Given the description of an element on the screen output the (x, y) to click on. 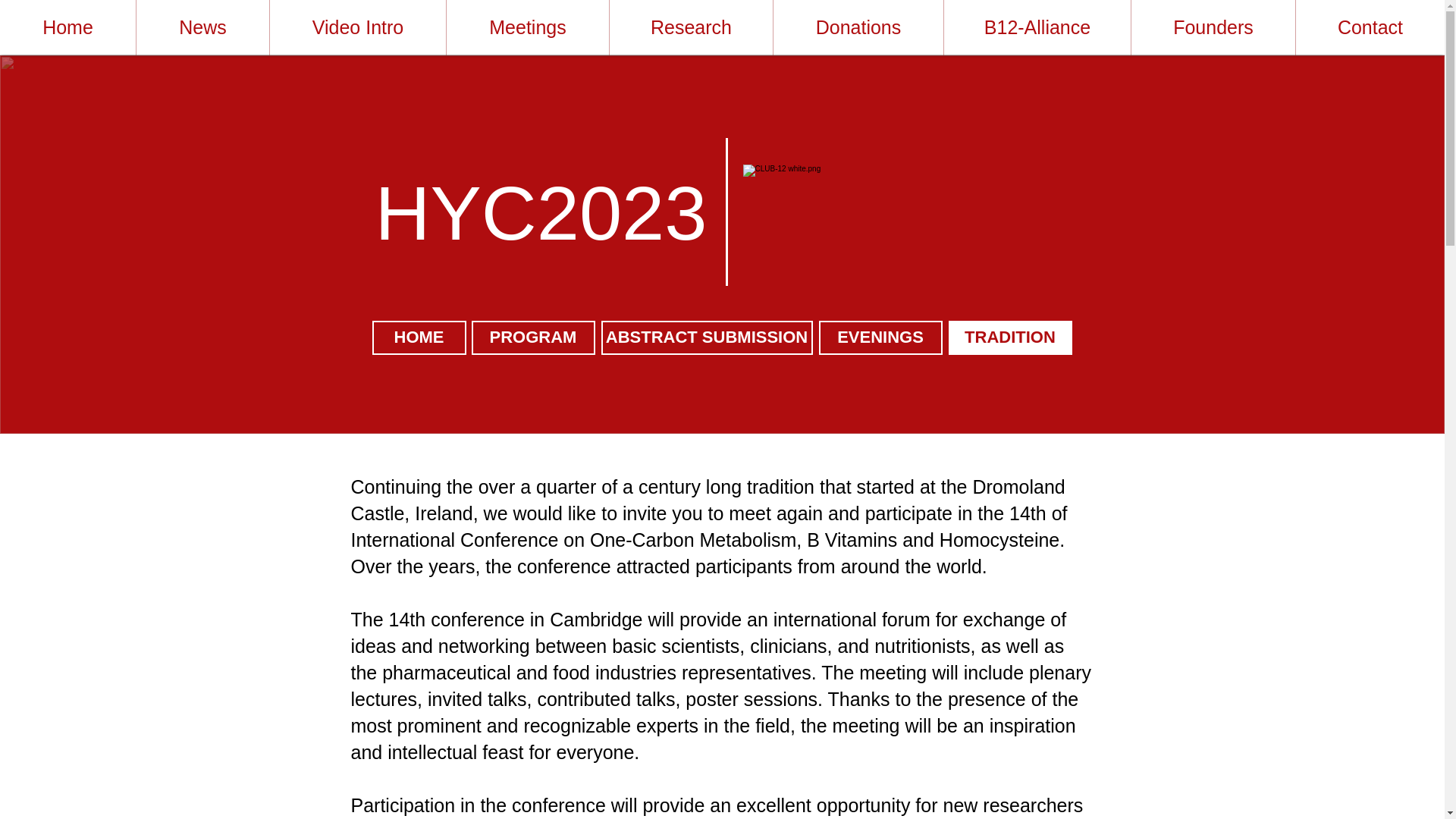
TRADITION (1009, 337)
Research (691, 27)
Donations (858, 27)
ABSTRACT SUBMISSION (705, 337)
News (202, 27)
Founders (1213, 27)
Video Intro (357, 27)
B12-Alliance (1037, 27)
HOME (418, 337)
PROGRAM (533, 337)
